Given the description of an element on the screen output the (x, y) to click on. 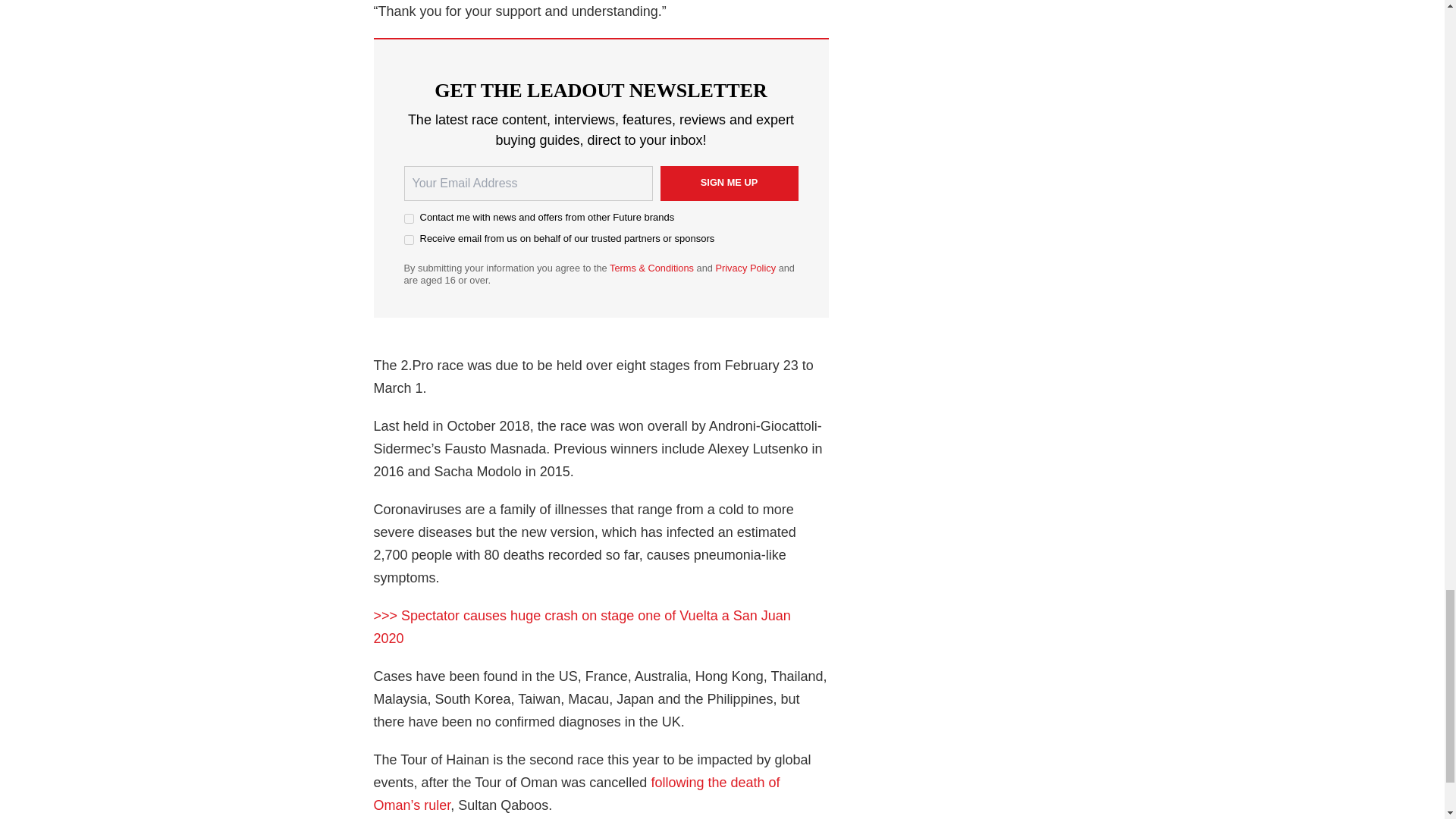
on (408, 239)
on (408, 218)
Sign me up (728, 183)
